Given the description of an element on the screen output the (x, y) to click on. 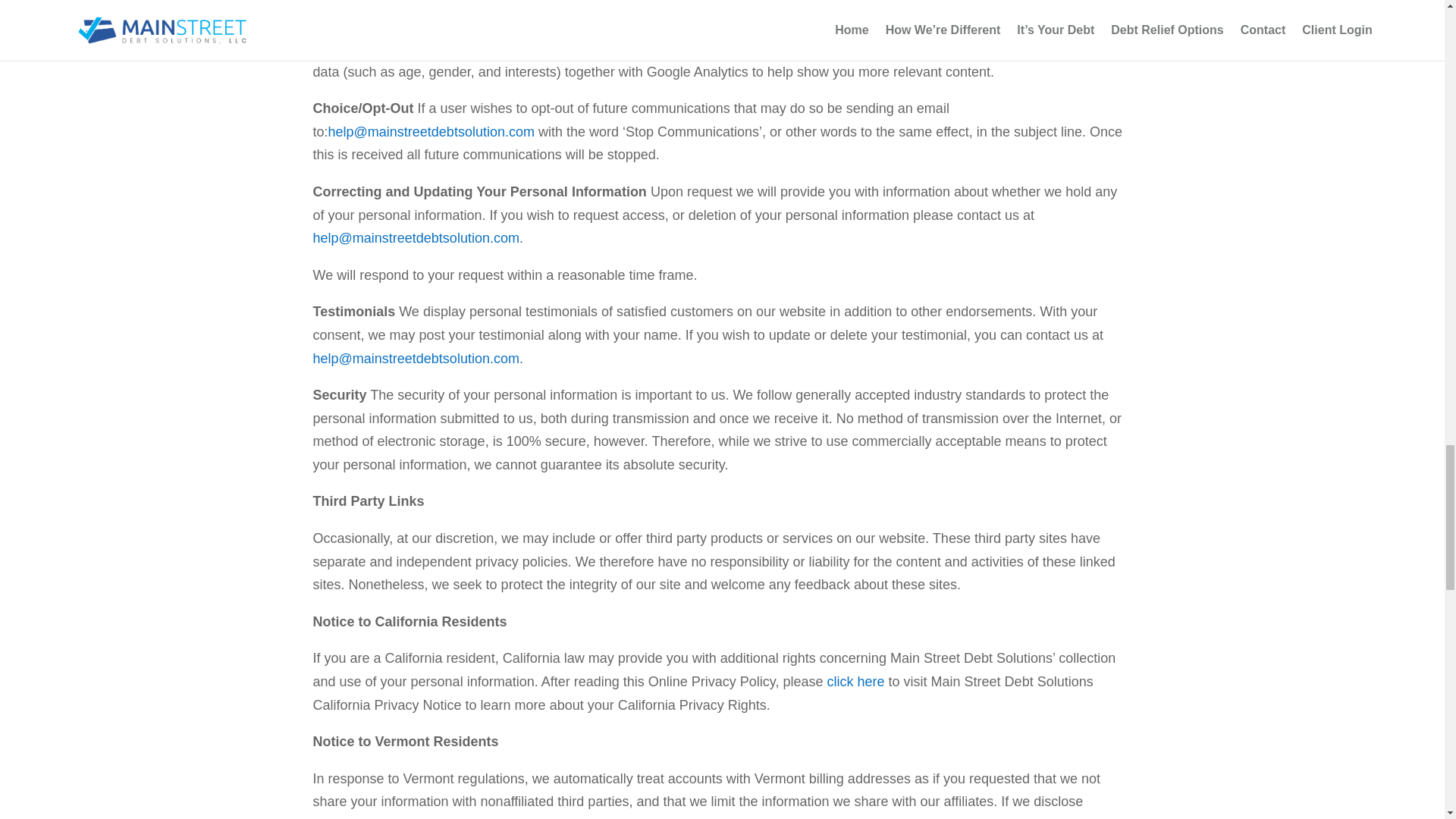
click here (856, 681)
